Given the description of an element on the screen output the (x, y) to click on. 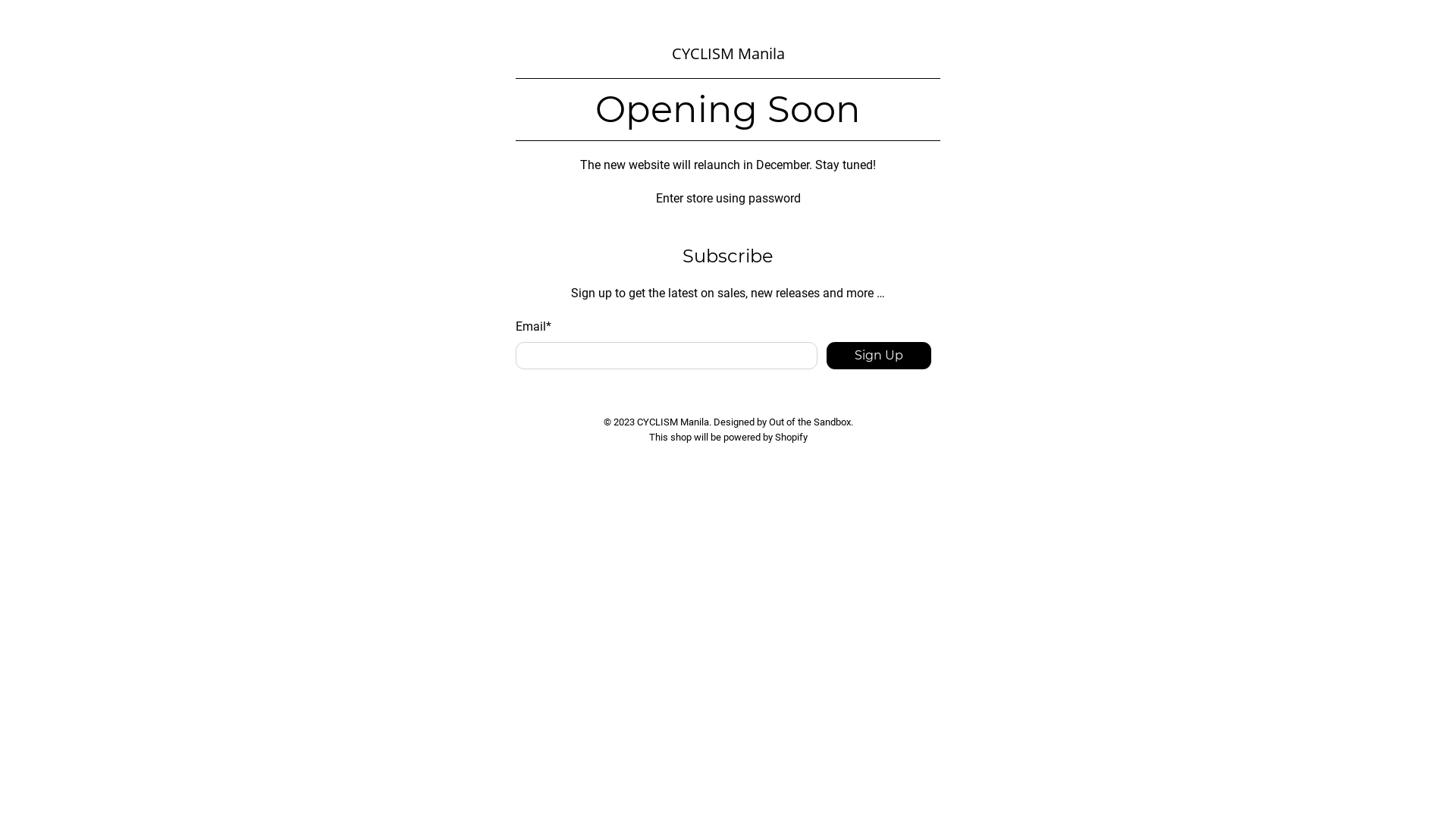
Shopify Element type: text (791, 436)
Sign Up Element type: text (878, 355)
Designed by Out of the Sandbox Element type: text (781, 421)
Enter Element type: text (727, 434)
Enter store using password Element type: text (727, 198)
